Given the description of an element on the screen output the (x, y) to click on. 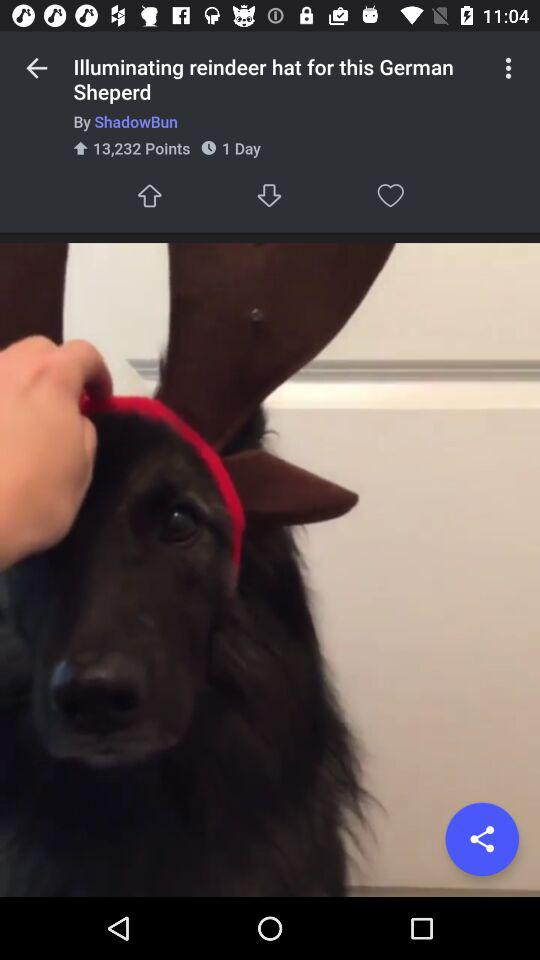
launch the by shadowbun icon (278, 121)
